Given the description of an element on the screen output the (x, y) to click on. 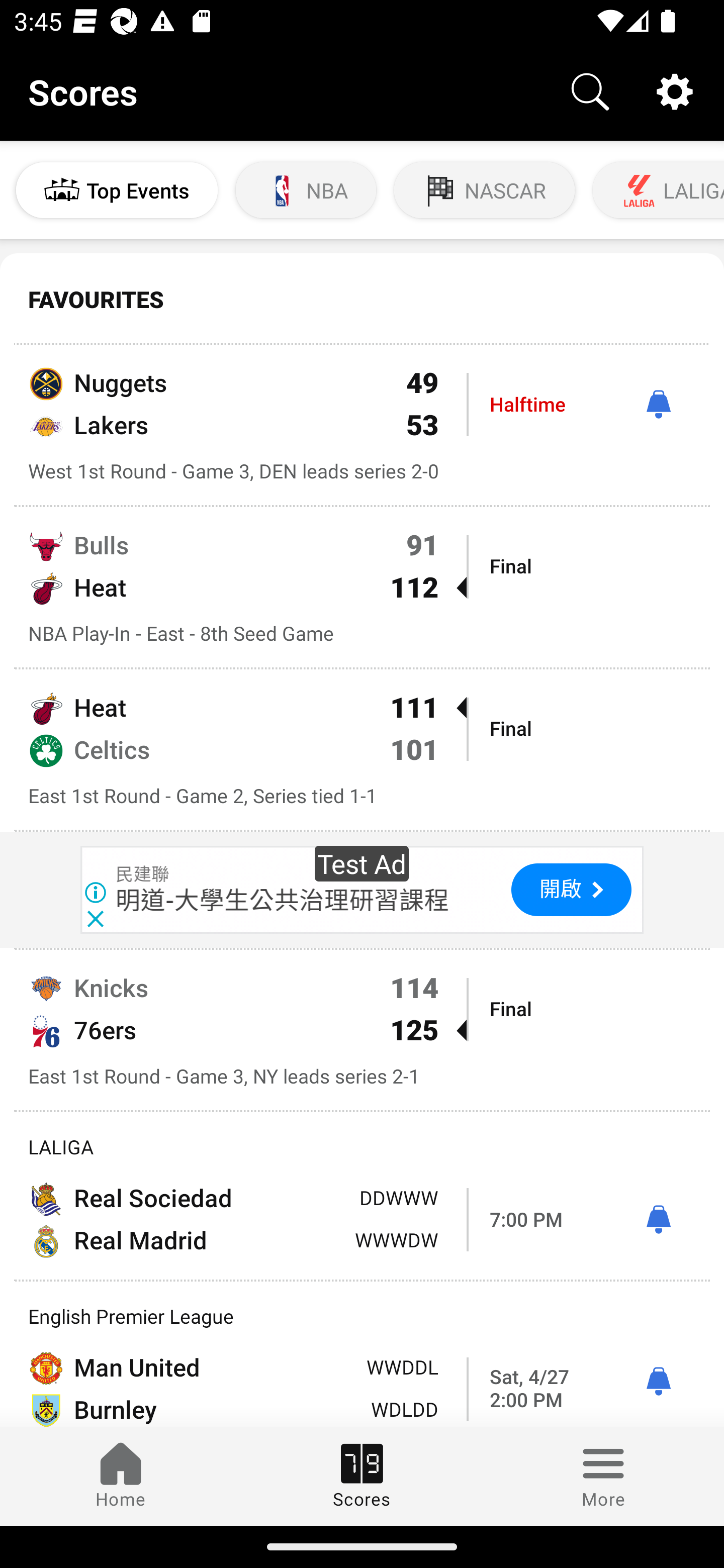
Search (590, 90)
Settings (674, 90)
 Top Events (116, 190)
NBA (305, 190)
NASCAR (484, 190)
LALIGA (656, 190)
FAVOURITES (362, 299)
ì (658, 404)
ì (658, 1219)
ì (658, 1381)
Home (120, 1475)
More (603, 1475)
